Given the description of an element on the screen output the (x, y) to click on. 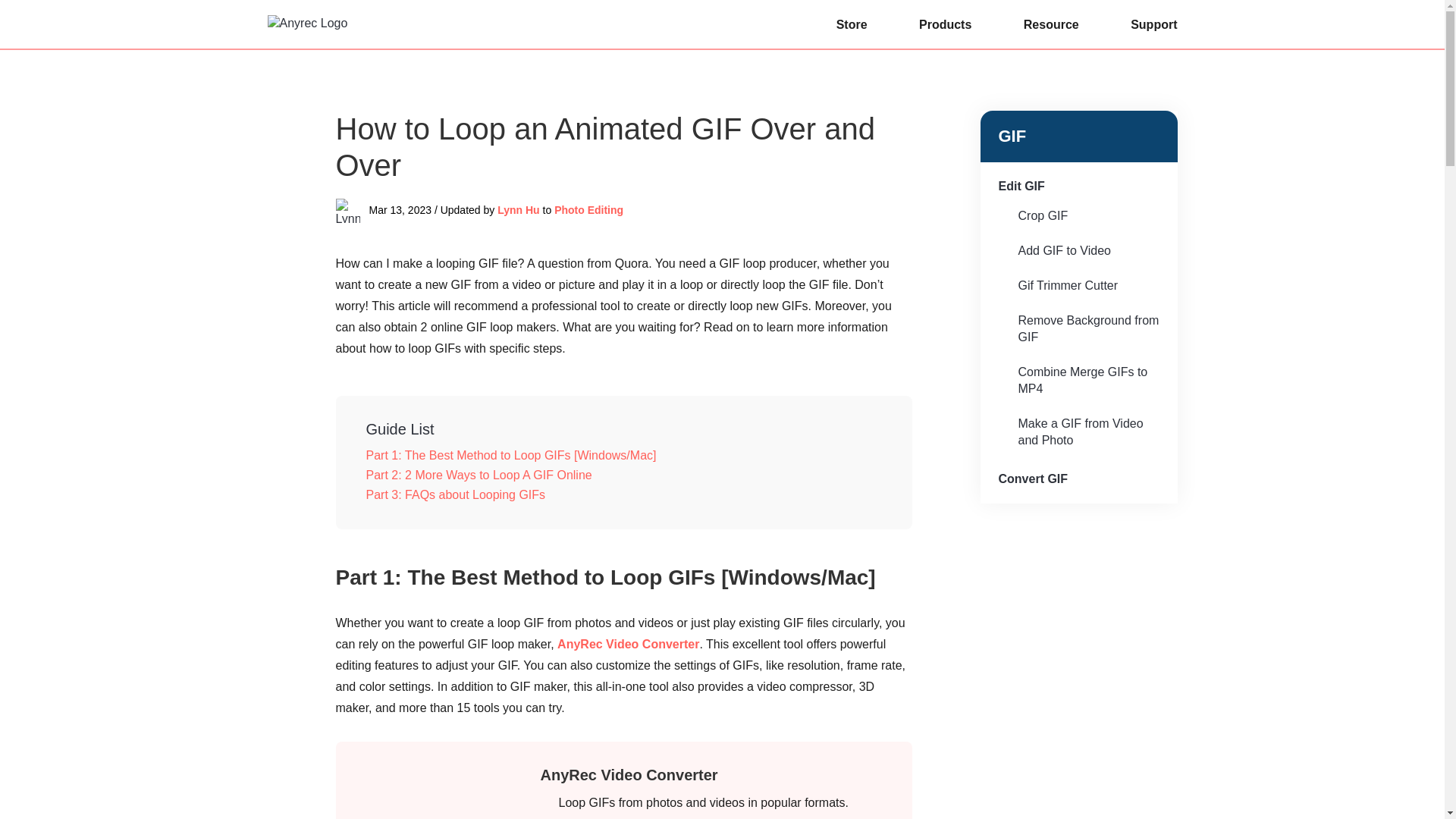
Part 2: 2 More Ways to Loop A GIF Online (622, 475)
Add GIF to Video (1077, 250)
AnyRec Video Converter (628, 774)
Crop GIF (1077, 215)
Products (944, 24)
Photo Editing (588, 209)
Resource (1050, 24)
Lynn Hu (517, 209)
Part 3: FAQs about Looping GIFs (622, 495)
Make a GIF from Video and Photo (1077, 432)
